Given the description of an element on the screen output the (x, y) to click on. 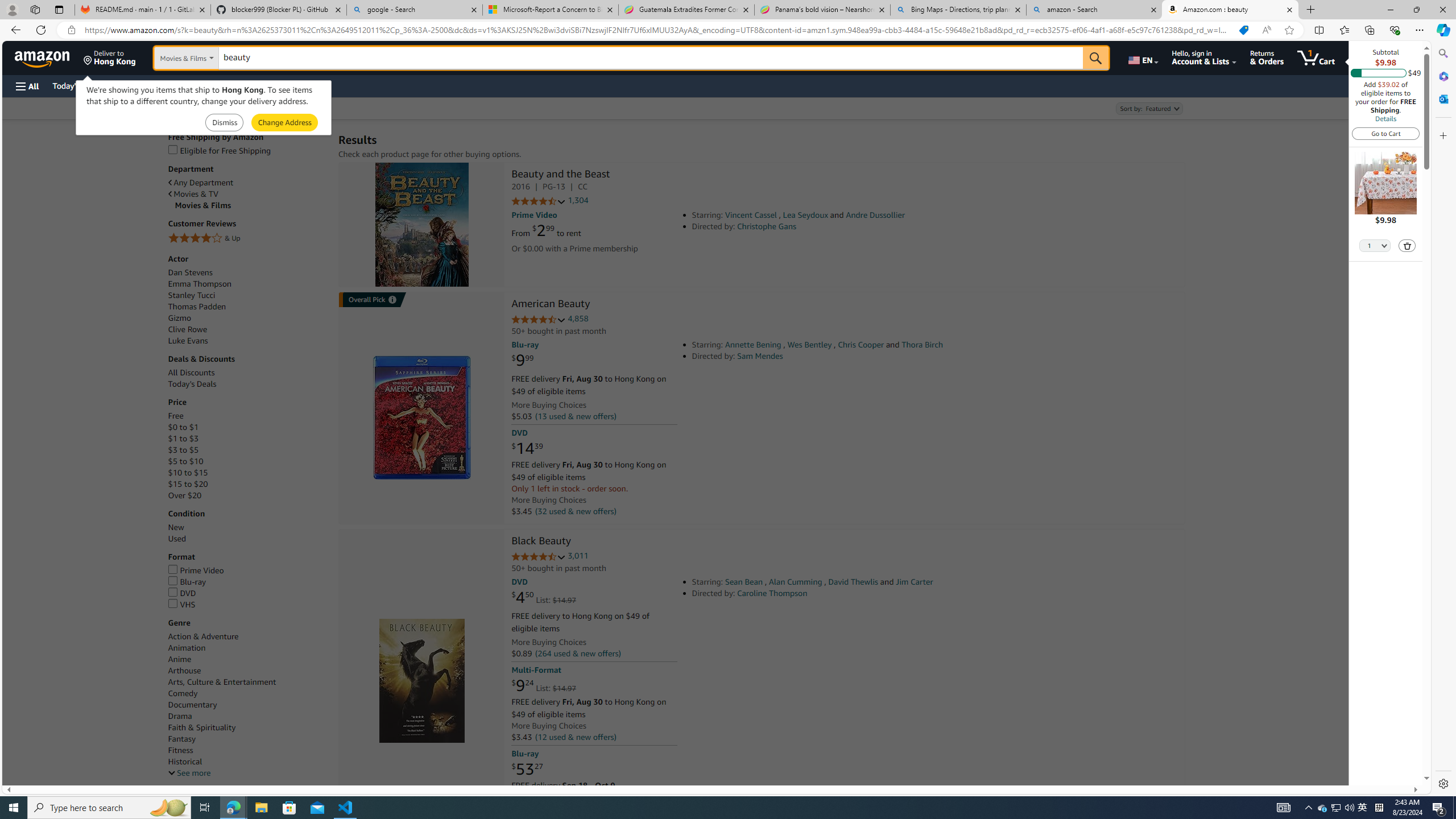
See more, Genre (189, 773)
Free (175, 415)
Documentary (247, 705)
Search in (210, 58)
Comedy (182, 692)
American Beauty (550, 304)
$53.27 (527, 768)
Stanley Tucci (191, 294)
Delete (1407, 245)
Multi-Format (536, 670)
$0 to $1 (183, 426)
amazon - Search (1094, 9)
